Given the description of an element on the screen output the (x, y) to click on. 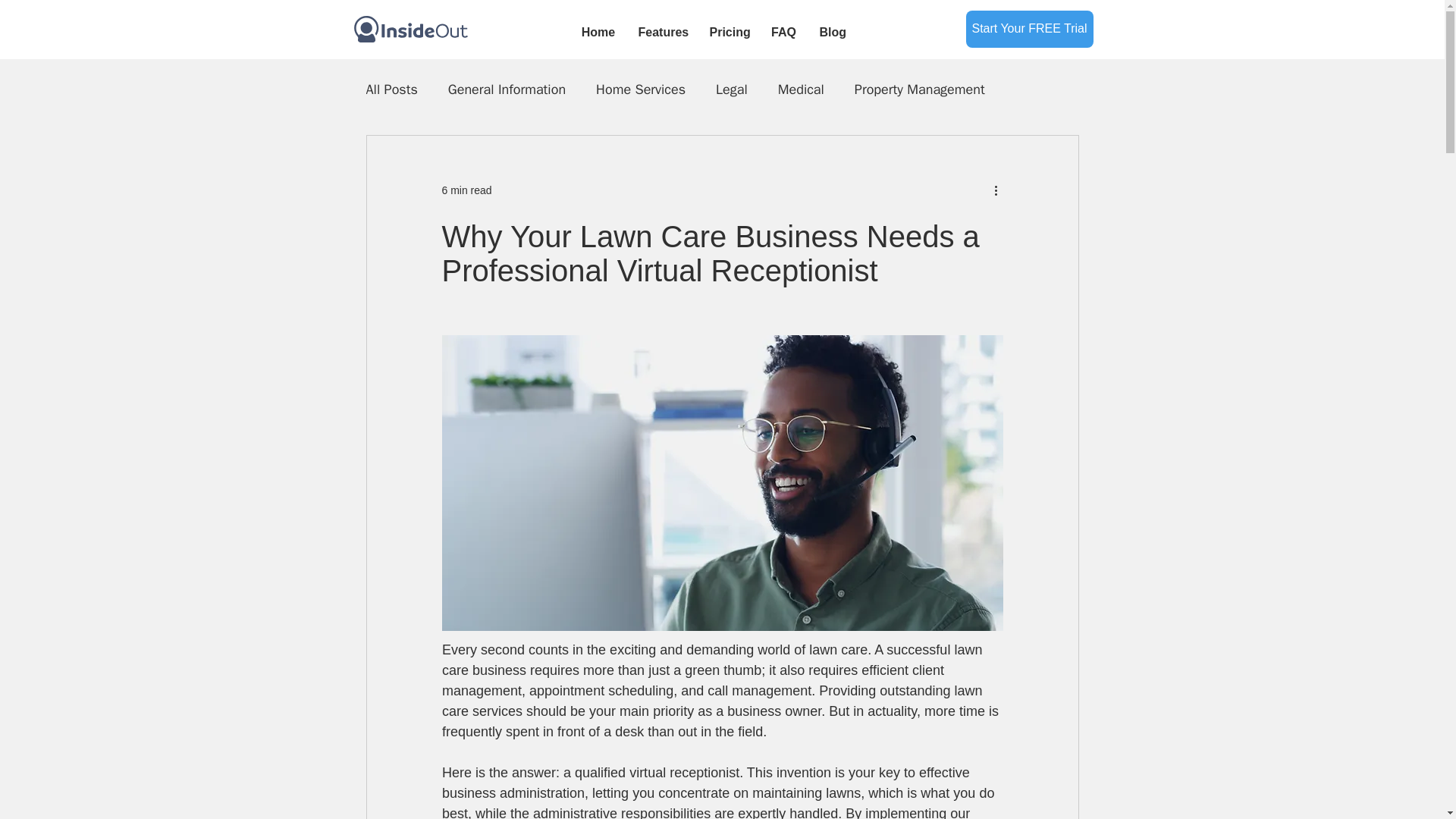
6 min read (466, 189)
Home (598, 31)
Pricing (727, 31)
Home Services (640, 89)
FAQ (784, 31)
Start Your FREE Trial (1029, 28)
Legal (732, 89)
Medical (800, 89)
All Posts (390, 89)
Features (661, 31)
General Information (507, 89)
Property Management (919, 89)
Blog (832, 31)
